Given the description of an element on the screen output the (x, y) to click on. 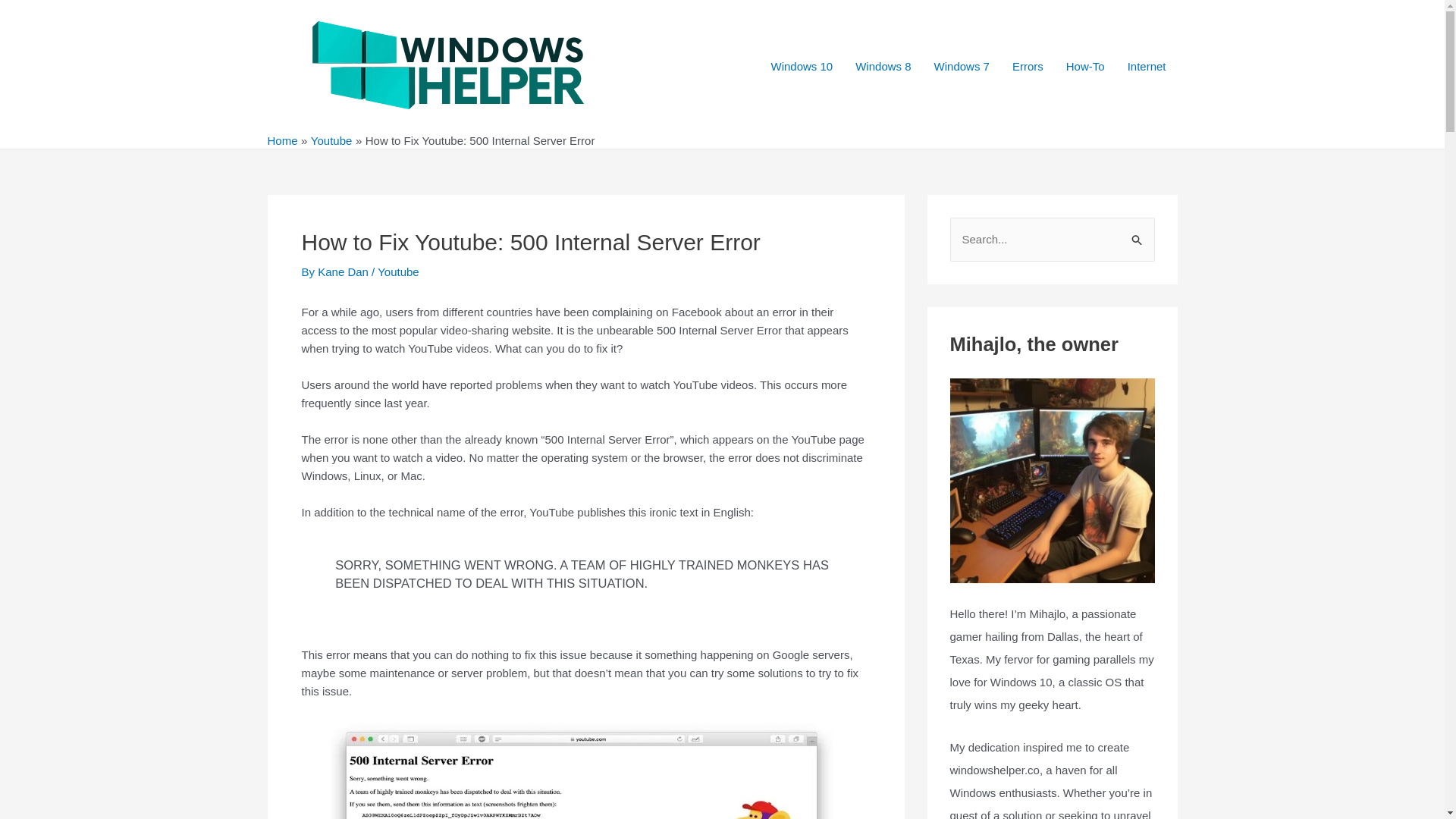
Internet (1146, 66)
Youtube (331, 140)
Windows 10 (802, 66)
Kane Dan (344, 271)
Youtube (398, 271)
Windows 7 (962, 66)
View all posts by Kane Dan (344, 271)
Search (1137, 232)
How-To (1085, 66)
Search (1137, 232)
